Given the description of an element on the screen output the (x, y) to click on. 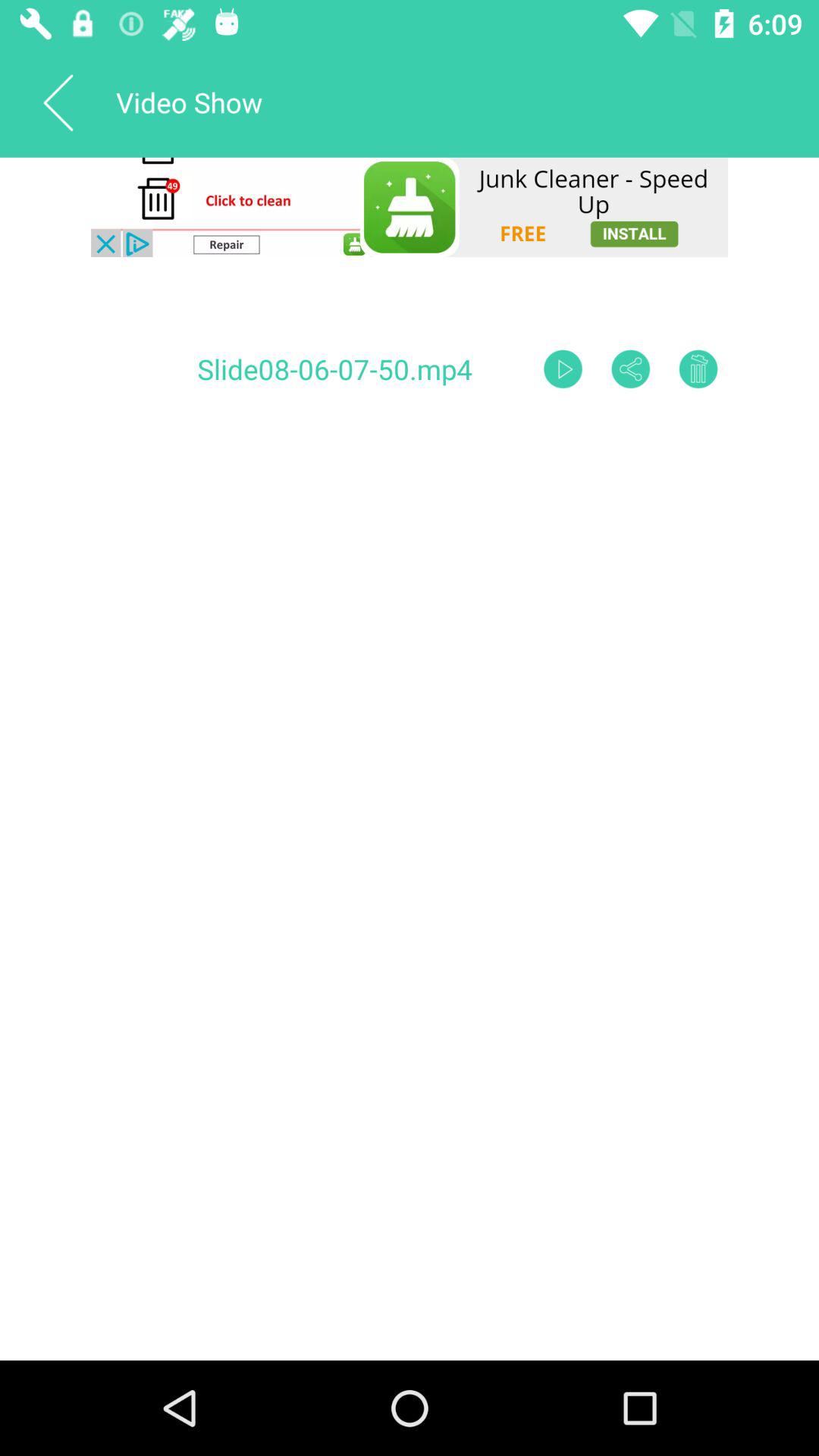
delete (698, 369)
